Given the description of an element on the screen output the (x, y) to click on. 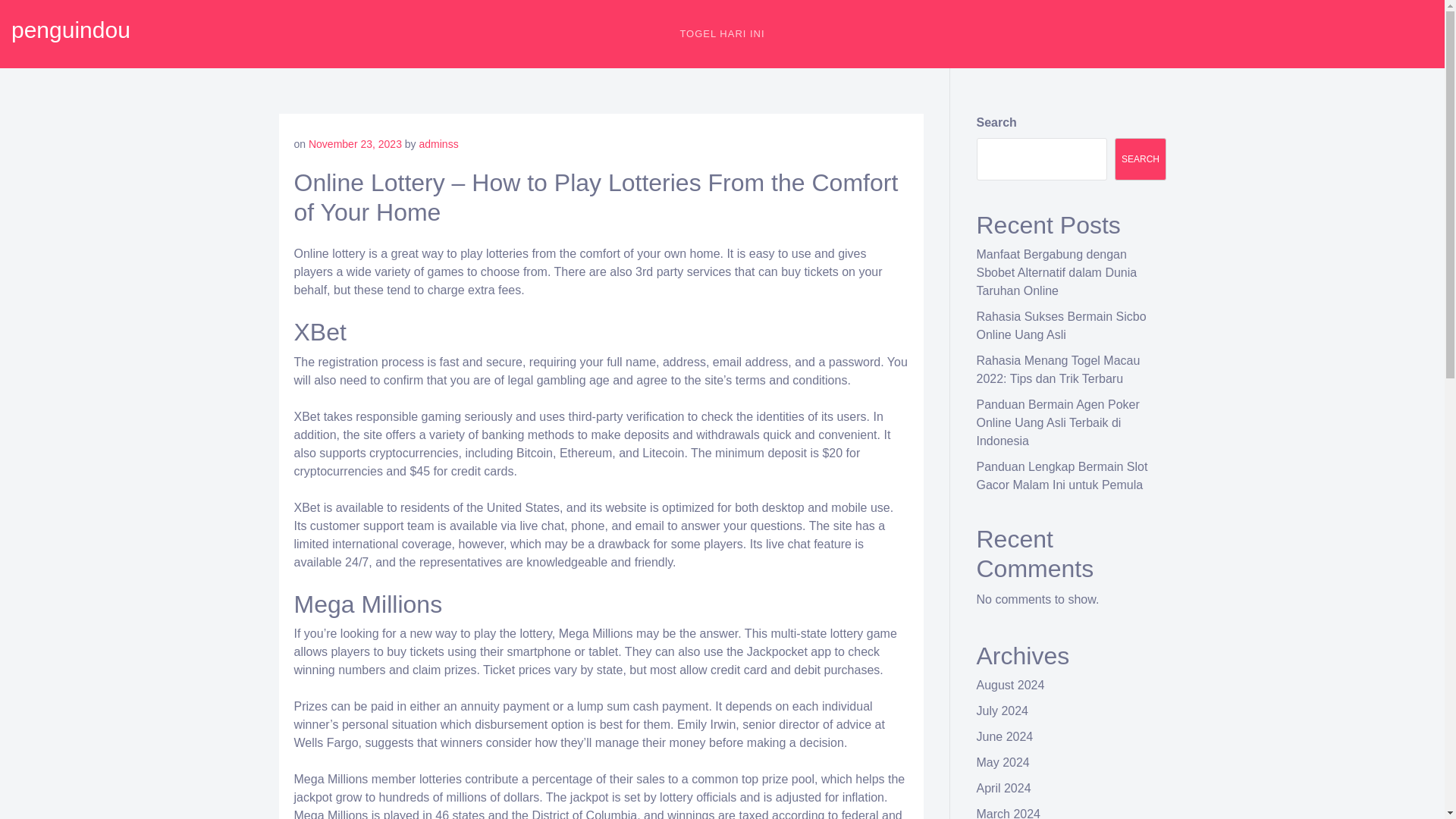
July 2024 (1002, 710)
April 2024 (1003, 788)
Panduan Lengkap Bermain Slot Gacor Malam Ini untuk Pemula (1062, 475)
Rahasia Sukses Bermain Sicbo Online Uang Asli (1061, 325)
March 2024 (1008, 813)
June 2024 (1004, 736)
TOGEL HARI INI (722, 33)
adminss (438, 143)
November 23, 2023 (354, 143)
